Given the description of an element on the screen output the (x, y) to click on. 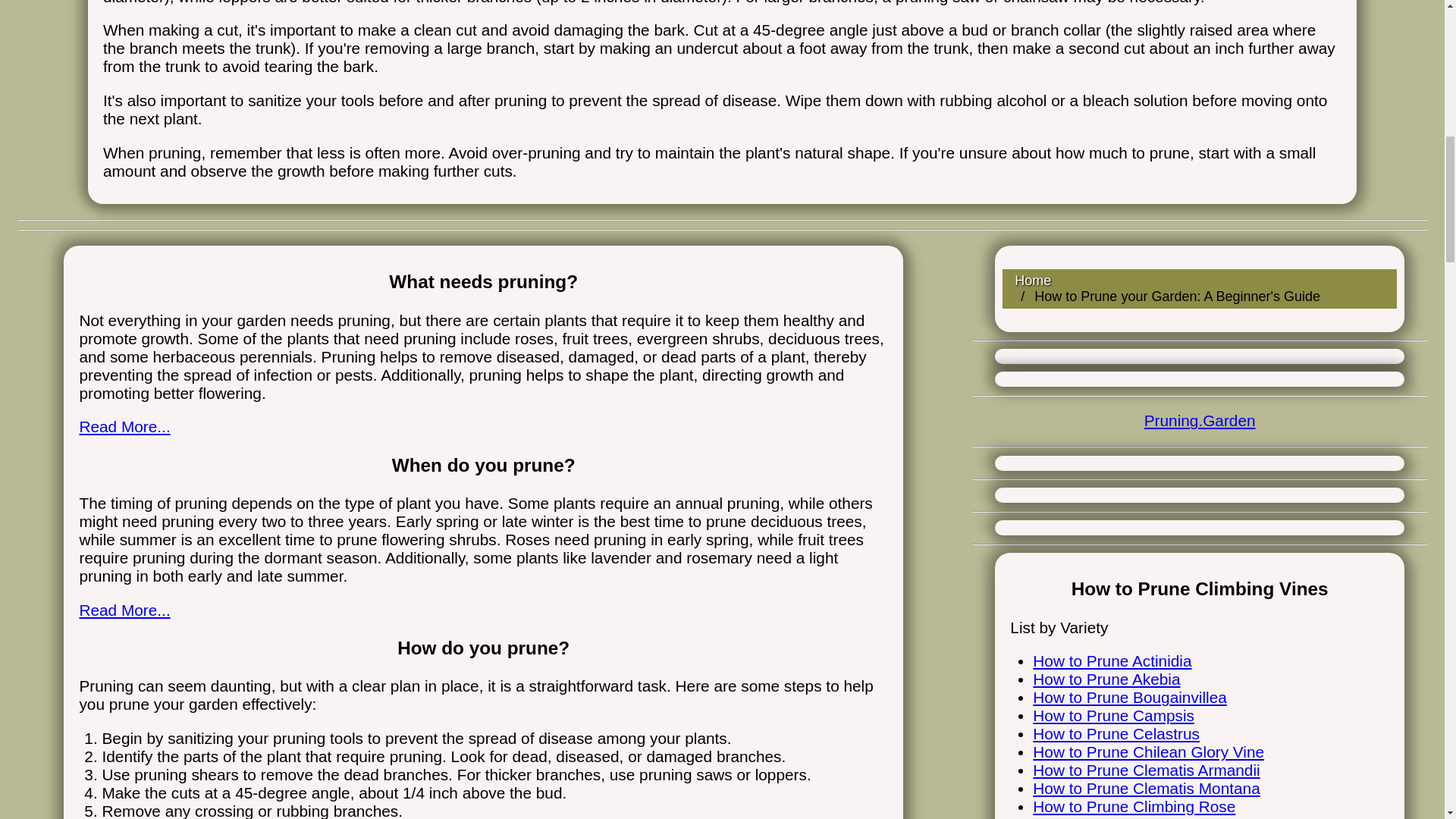
How to Prune Climbing Rose (1133, 805)
Read More... (124, 610)
Home (1032, 280)
How to Prune Actinidia (1111, 660)
How to Prune Hedera GoldHeart (1146, 817)
How to Prune Campsis (1112, 714)
How to Prune Celastrus (1115, 733)
How to Prune Bougainvillea (1129, 696)
How to Prune Akebia (1105, 678)
Read More... (124, 425)
How to Prune Clematis Montana (1145, 787)
How to Prune Chilean Glory Vine (1147, 751)
How to Prune Clematis Armandii (1145, 769)
Pruning.Garden (1199, 420)
